Given the description of an element on the screen output the (x, y) to click on. 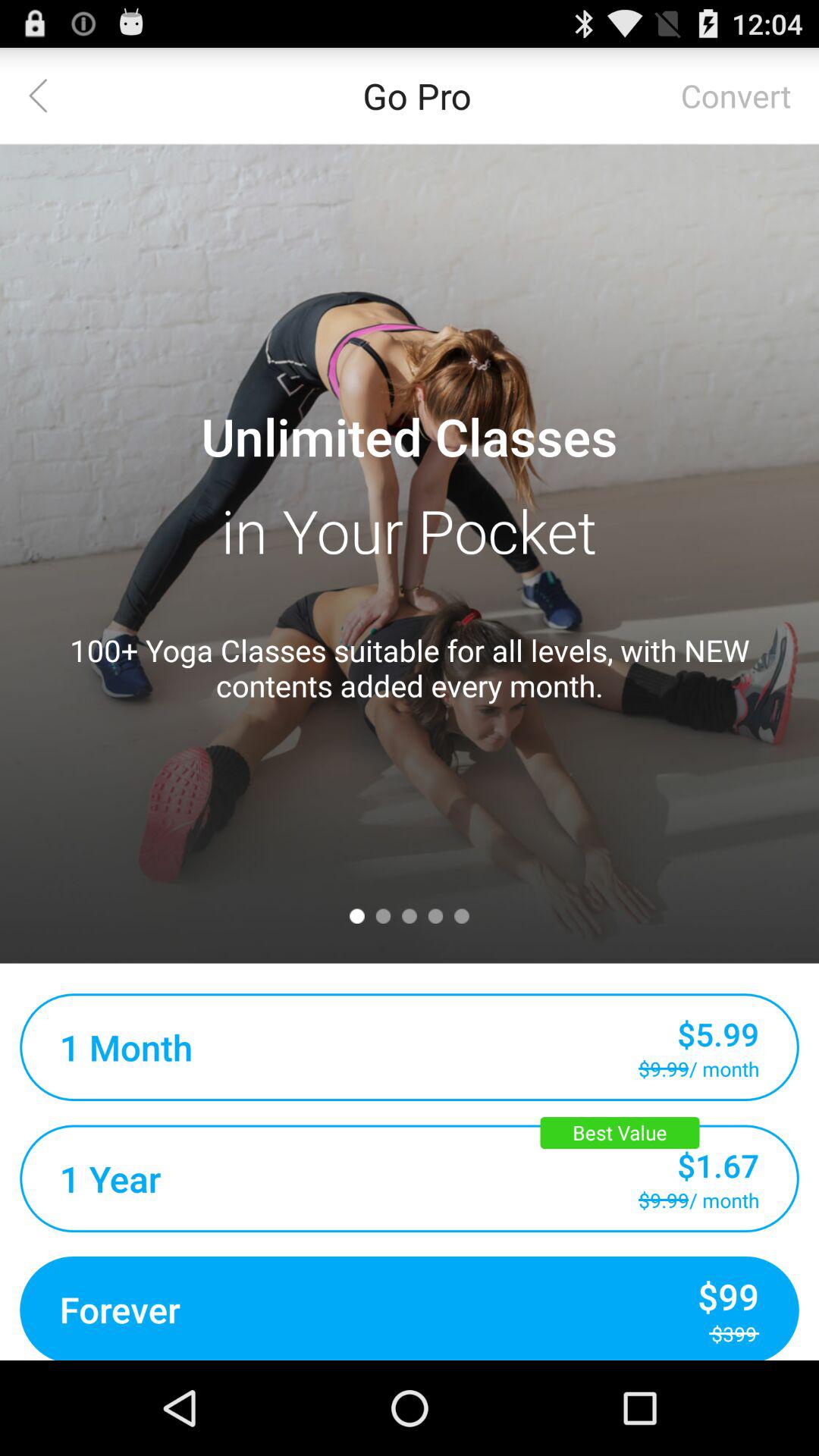
press the icon to the right of go pro icon (735, 95)
